Given the description of an element on the screen output the (x, y) to click on. 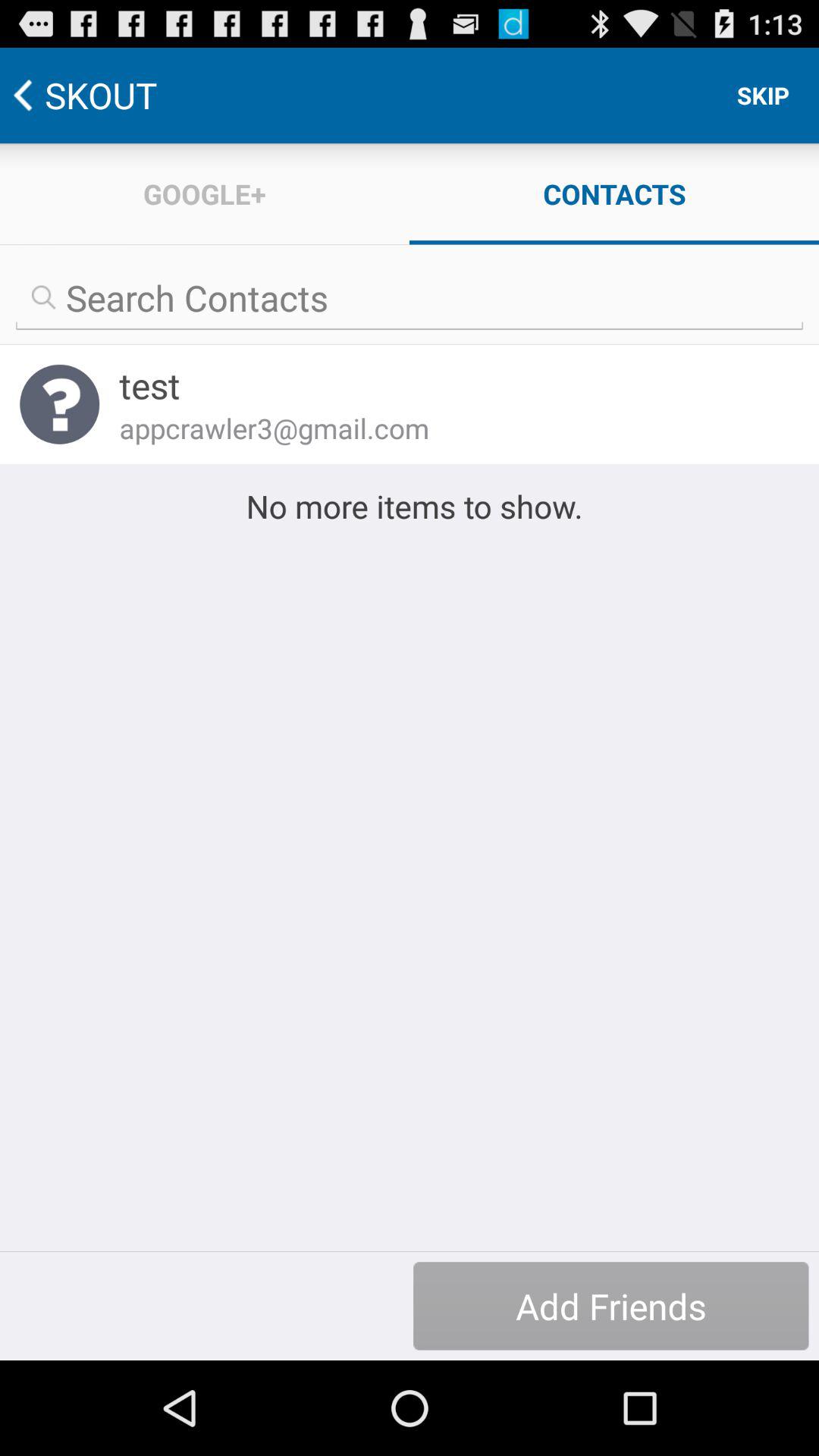
flip to google+ icon (204, 193)
